Given the description of an element on the screen output the (x, y) to click on. 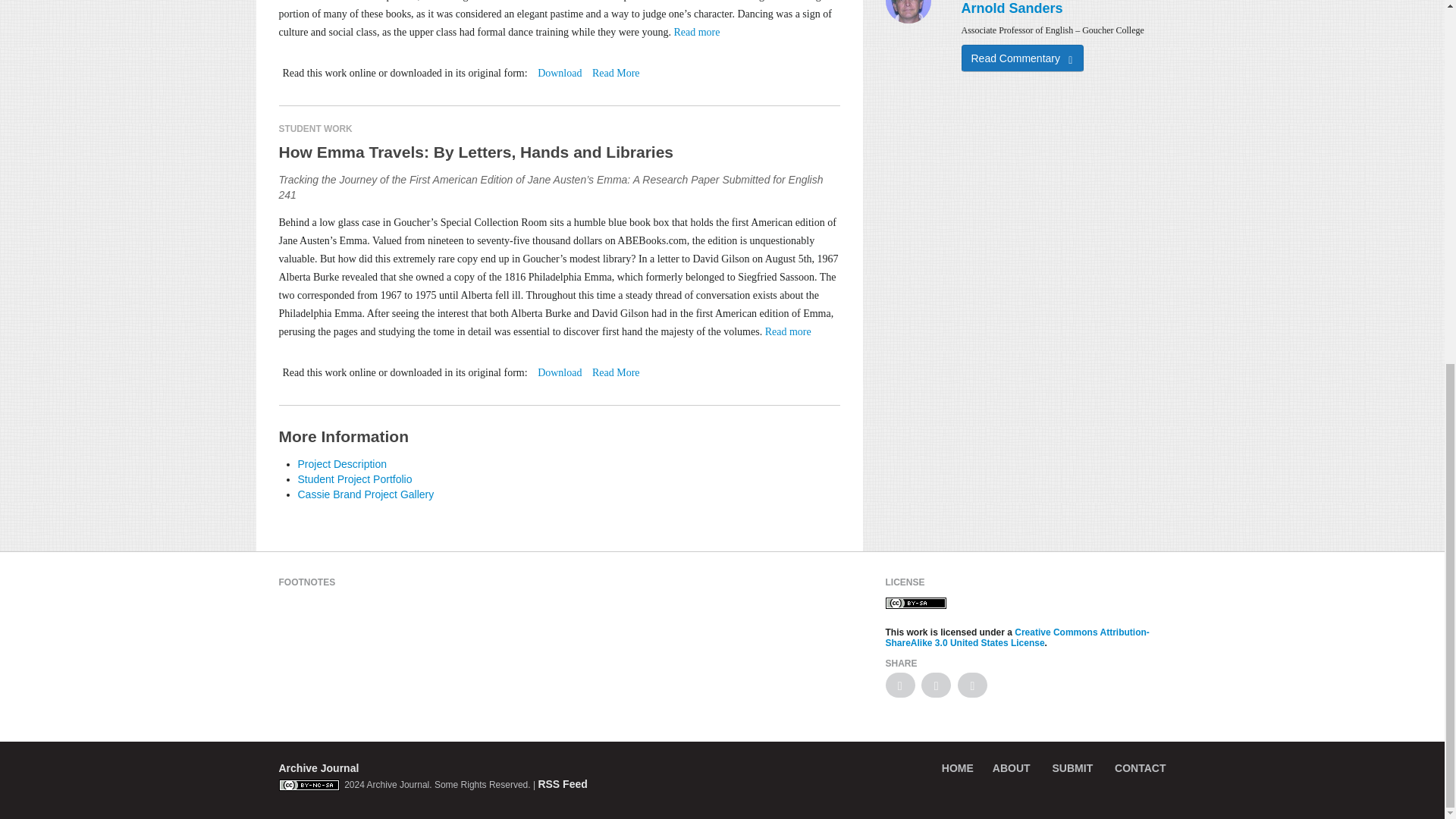
HOME (958, 767)
Read More (616, 72)
How Emma Travels: By Letters, Hands and Libraries (559, 152)
Project Description (342, 463)
Read Commentary (1021, 58)
Read more (787, 331)
Read more (695, 31)
Arnold Sanders (1011, 7)
Read More (616, 372)
Cassie Brand Project Gallery (365, 494)
ABOUT (1011, 767)
Download (558, 72)
Download (558, 372)
Student Project Portfolio (354, 479)
